Given the description of an element on the screen output the (x, y) to click on. 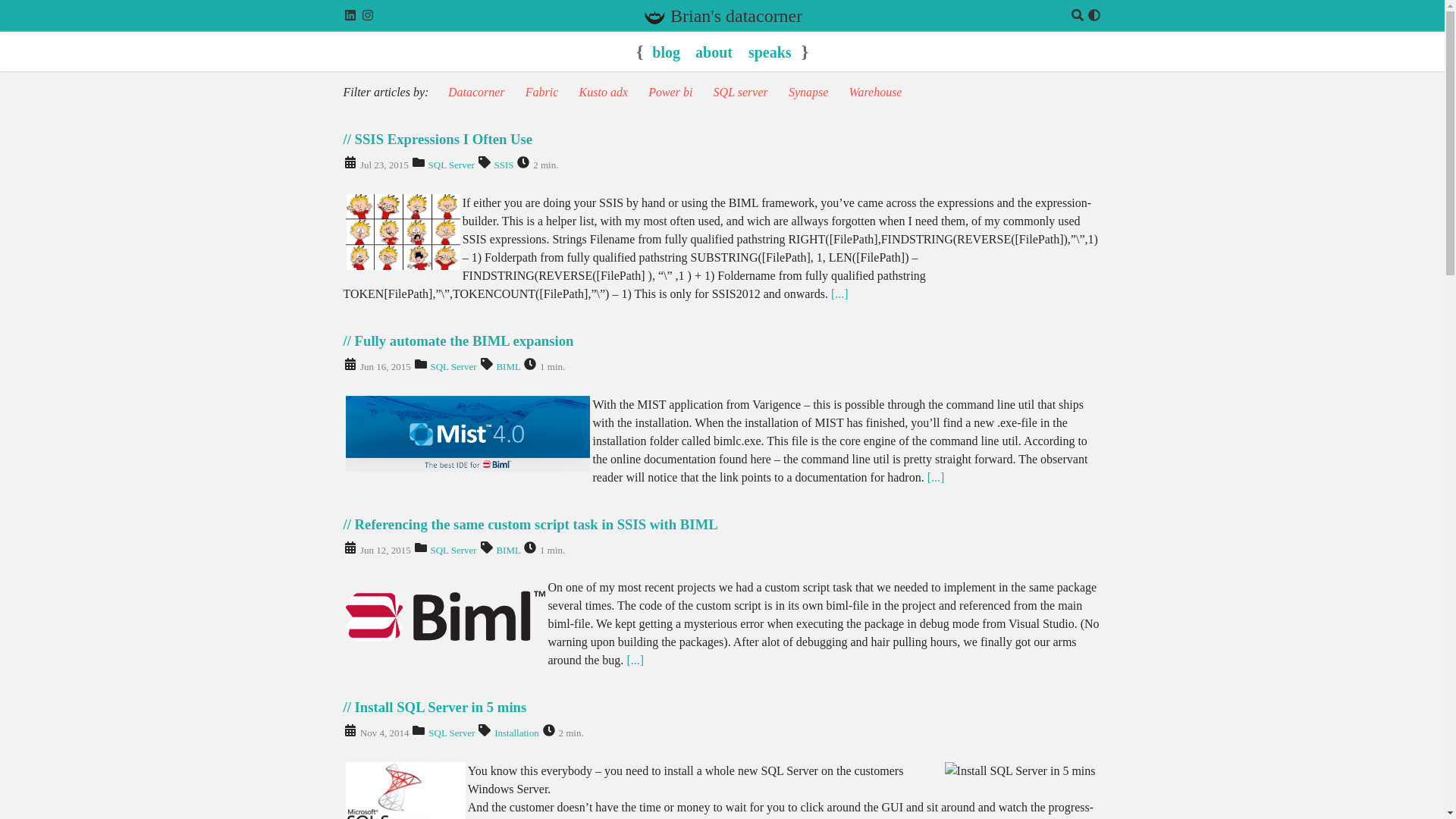
Search (1077, 18)
Installation (516, 732)
SSIS (504, 164)
BIML (507, 366)
Fabric (542, 91)
Synapse (808, 91)
SQL Server (452, 550)
blog (665, 52)
SQL server (740, 91)
speaks (771, 52)
SQL Server (451, 732)
about (715, 52)
SQL Server (451, 164)
Datacorner (476, 91)
SQL Server (452, 366)
